Given the description of an element on the screen output the (x, y) to click on. 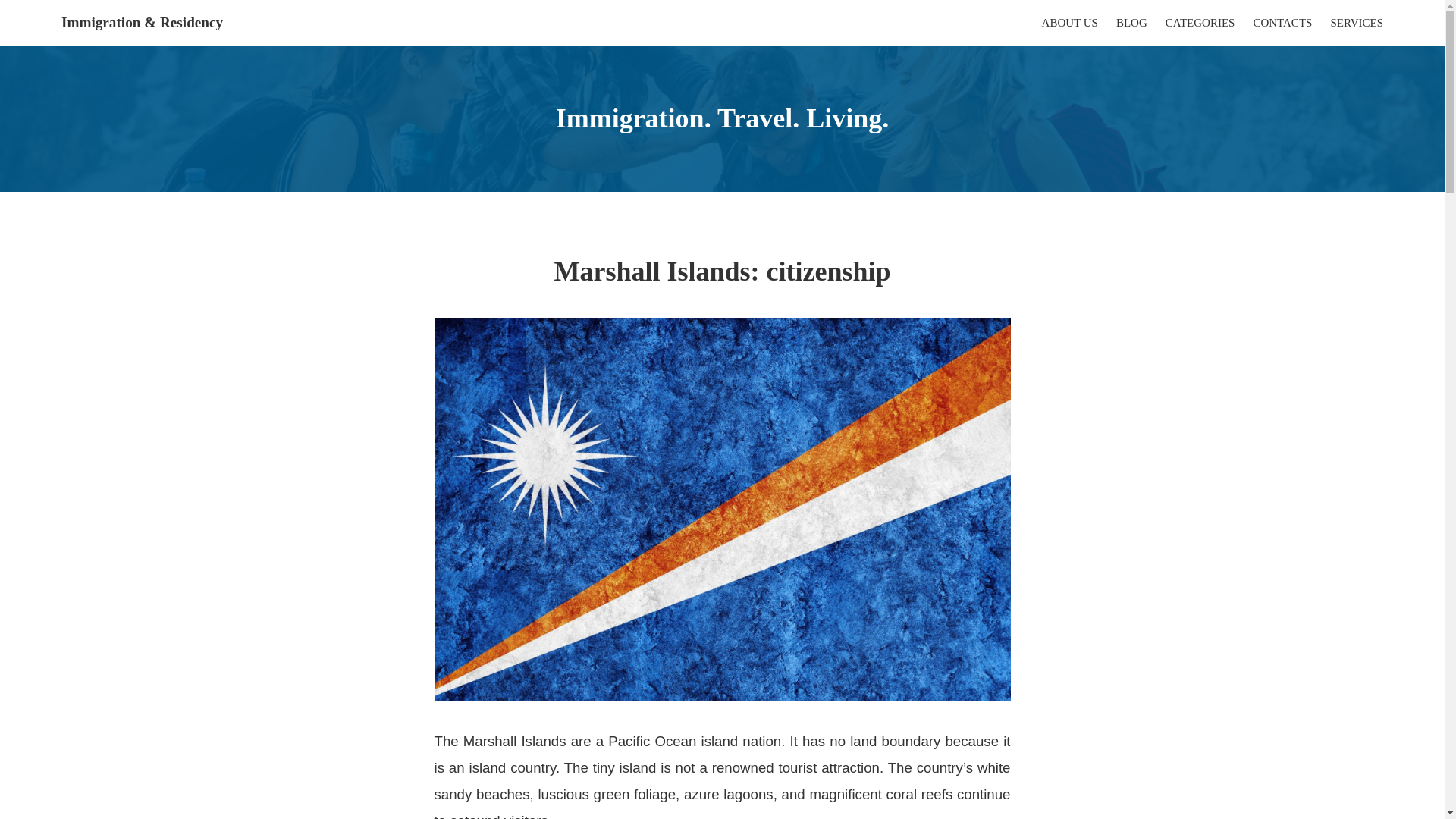
ABOUT US (1069, 22)
SERVICES (1356, 22)
BLOG (1131, 22)
CONTACTS (1281, 22)
CATEGORIES (1200, 22)
